Given the description of an element on the screen output the (x, y) to click on. 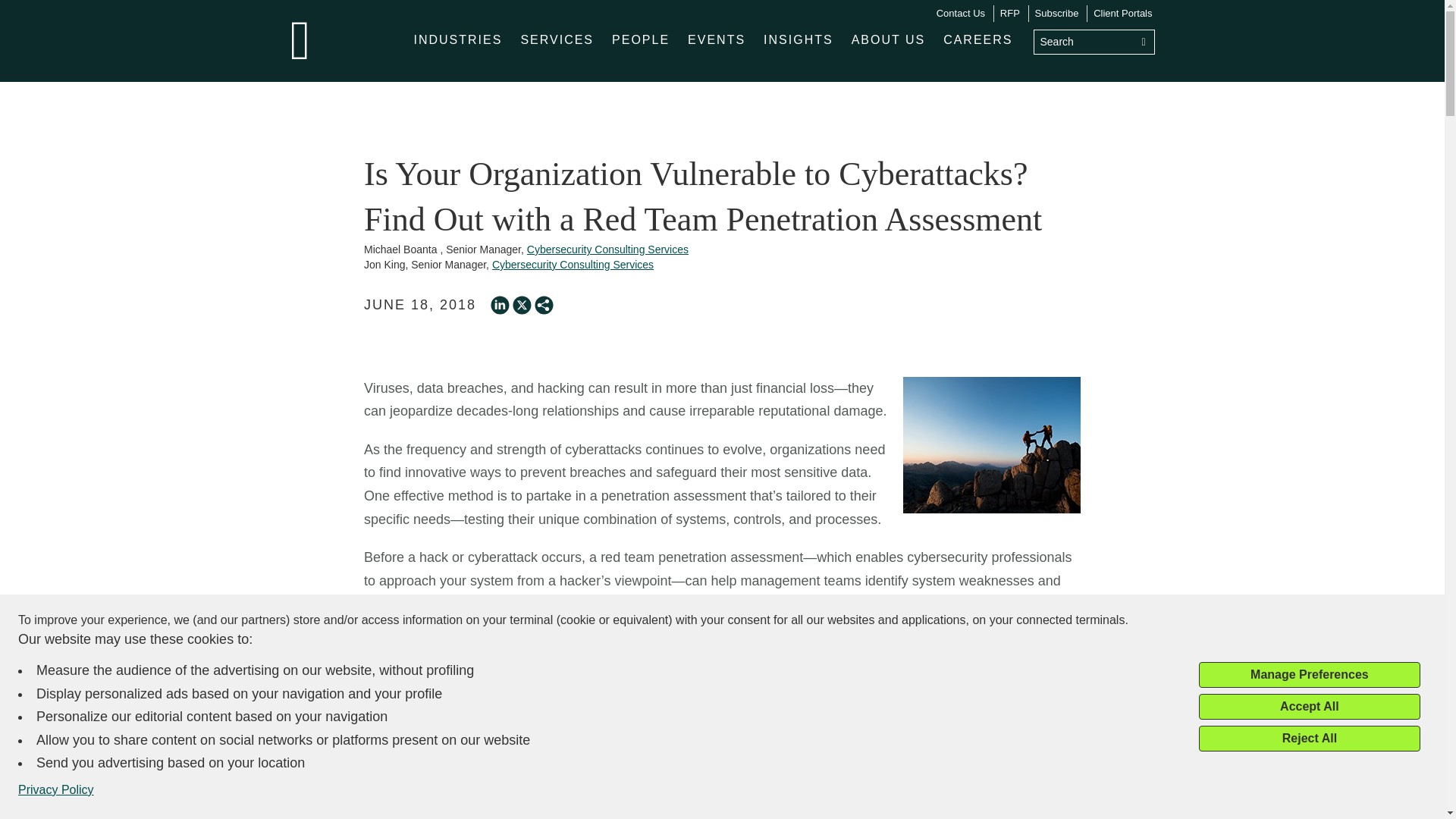
Accept All (1309, 706)
Privacy Policy (55, 789)
INDUSTRIES (458, 39)
Manage Preferences (1309, 674)
Reject All (1309, 738)
